Given the description of an element on the screen output the (x, y) to click on. 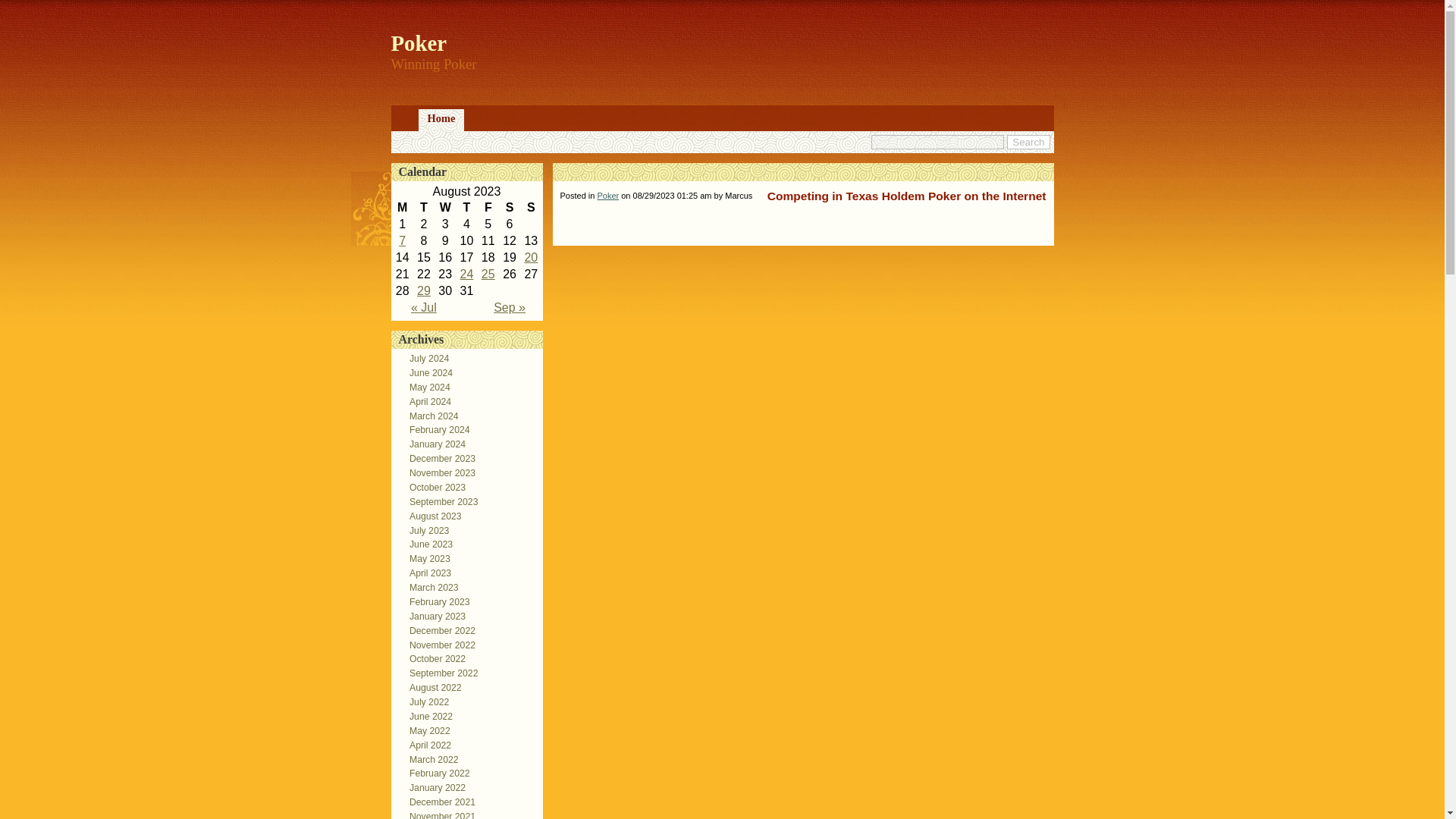
Search (1028, 142)
August 2022 (430, 687)
Search (1028, 142)
June 2024 (426, 372)
October 2023 (432, 487)
July 2023 (424, 530)
20 (530, 256)
Poker (418, 43)
Poker Webpages (467, 273)
March 2024 (429, 416)
April 2022 (425, 745)
April 2024 (425, 401)
Home (441, 119)
March 2022 (429, 759)
February 2024 (435, 429)
